Given the description of an element on the screen output the (x, y) to click on. 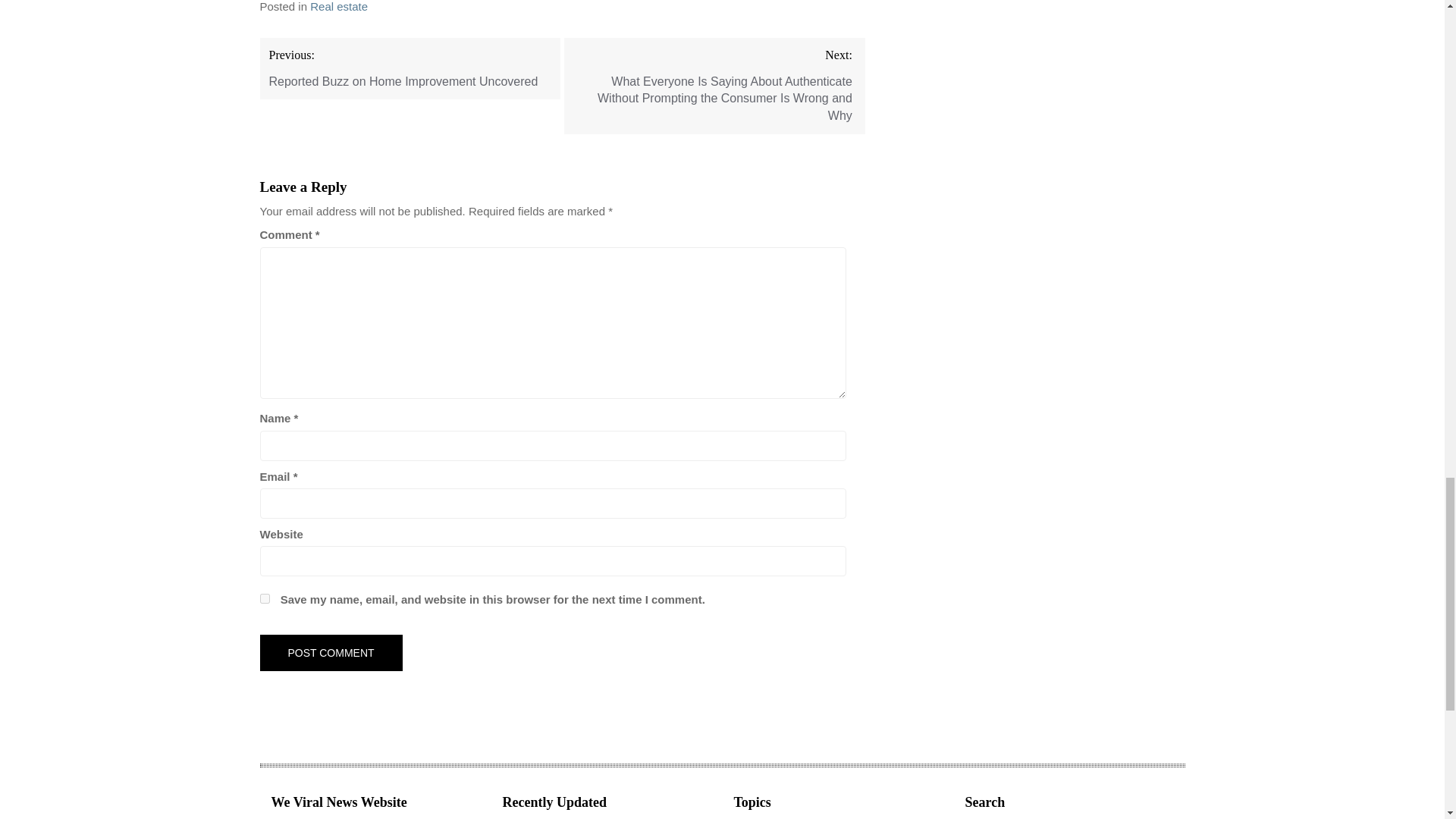
Post Comment (330, 652)
Post Comment (330, 652)
Real estate (339, 6)
yes (264, 598)
Previous: Reported Buzz on Home Improvement Uncovered (409, 68)
